Given the description of an element on the screen output the (x, y) to click on. 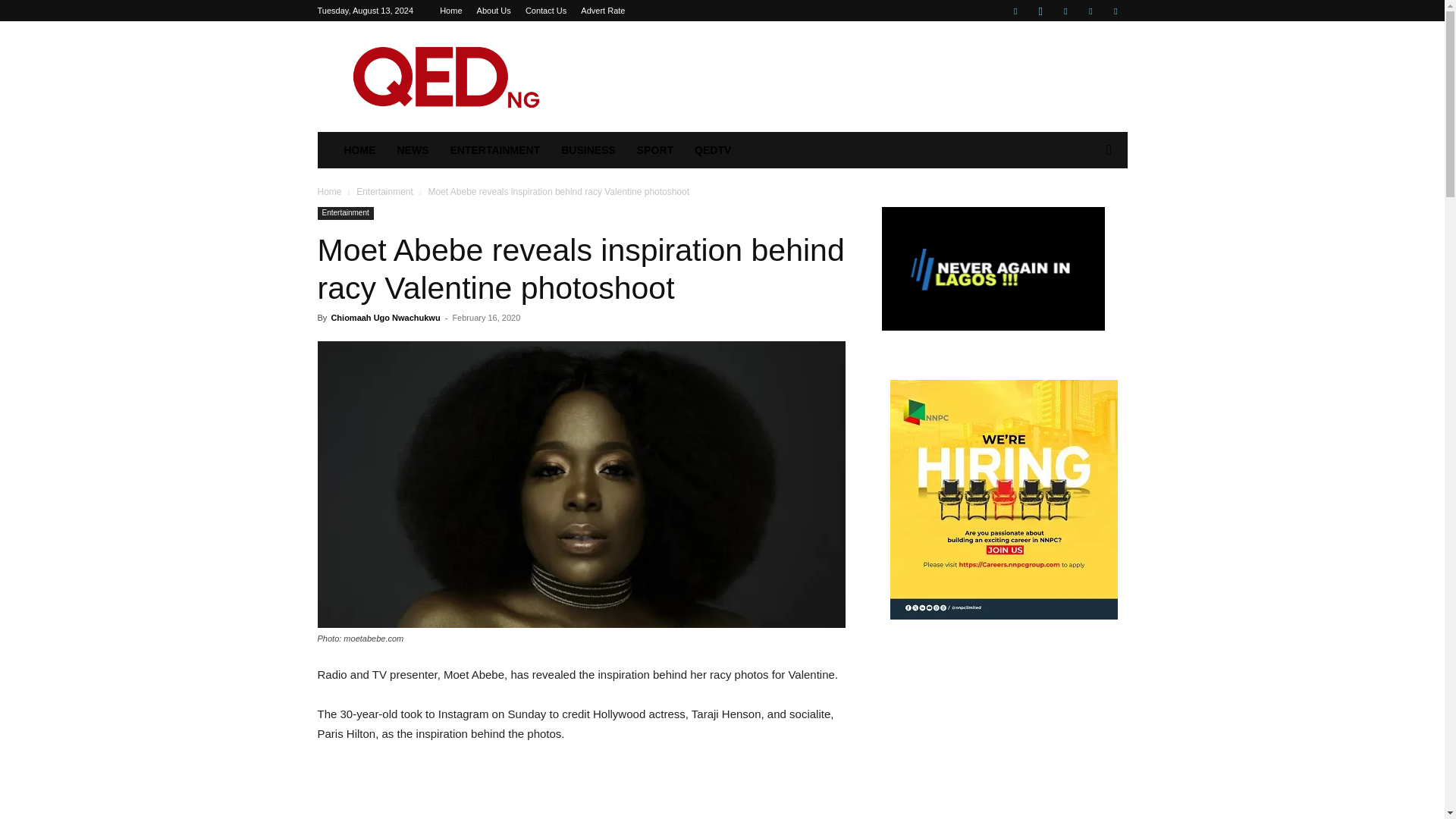
HOME (360, 149)
SPORT (655, 149)
QEDTV (712, 149)
Entertainment (344, 213)
NEWS (413, 149)
About Us (494, 10)
Linkedin (1065, 10)
Home (328, 191)
BUSINESS (588, 149)
